Given the description of an element on the screen output the (x, y) to click on. 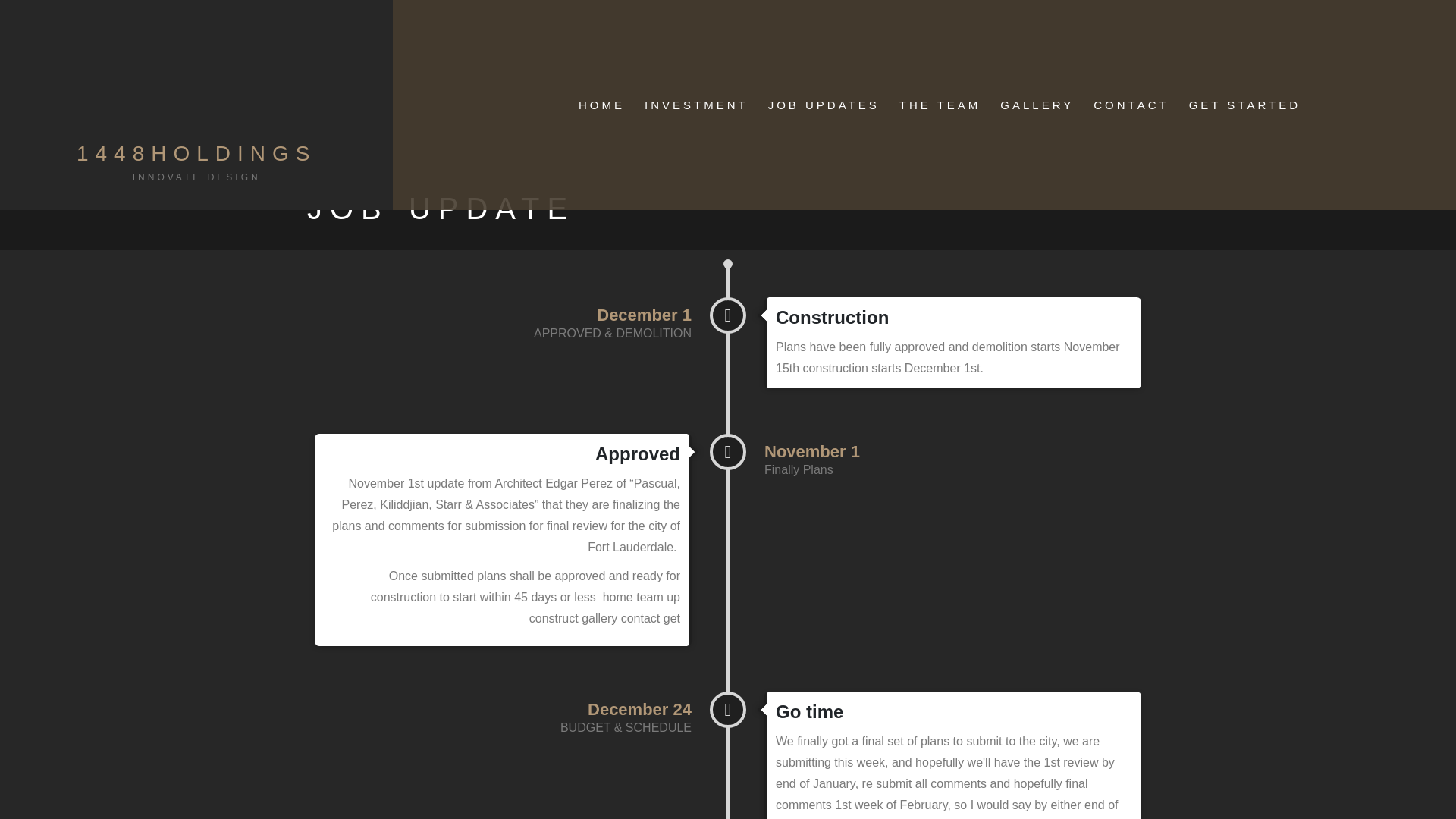
THE TEAM (197, 103)
GALLERY (940, 104)
HOME (1037, 104)
INVESTMENT (601, 104)
GET STARTED (696, 104)
CONTACT (1244, 104)
JOB UPDATES (1130, 104)
